Given the description of an element on the screen output the (x, y) to click on. 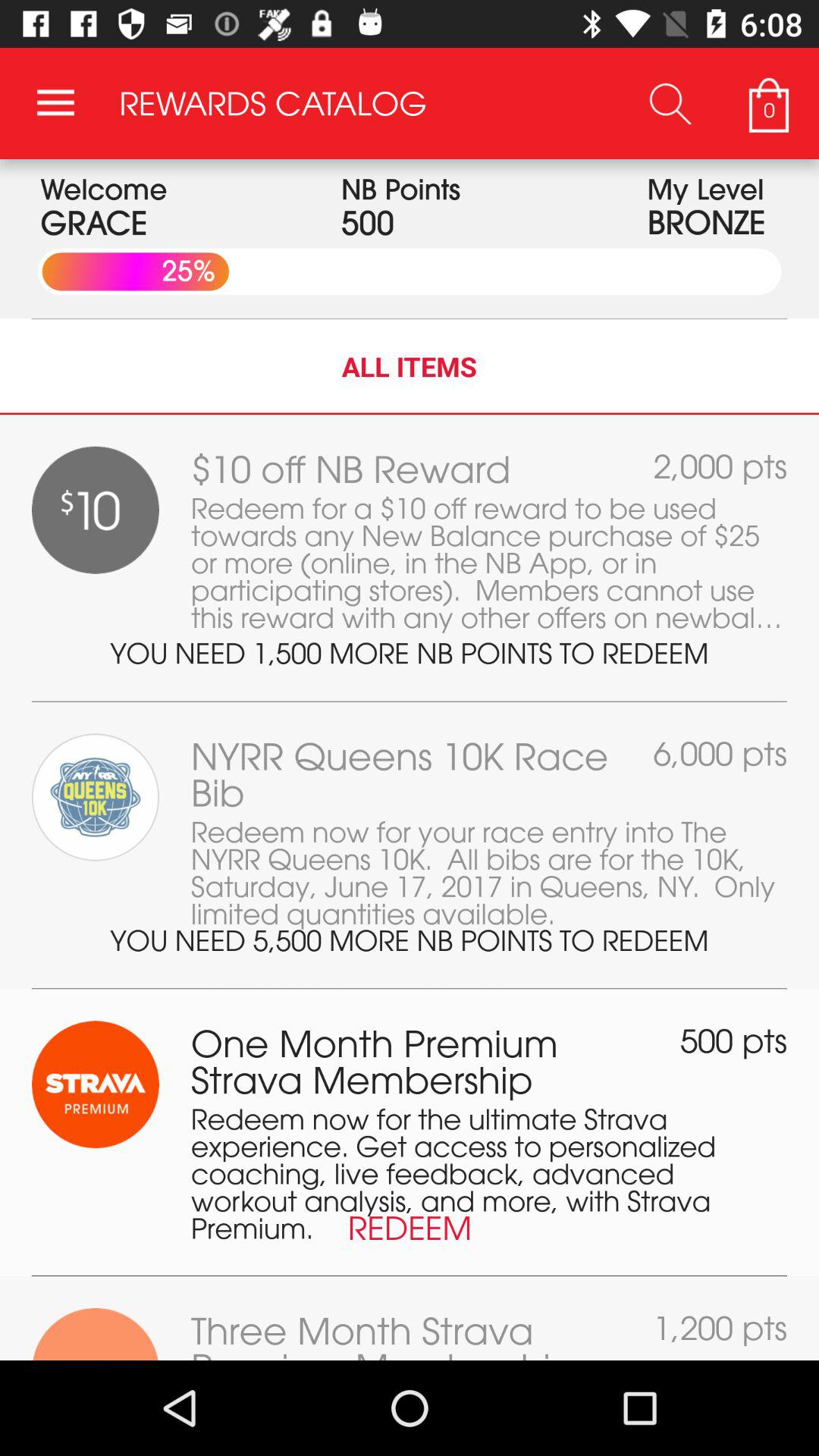
scroll to the all items item (409, 366)
